Given the description of an element on the screen output the (x, y) to click on. 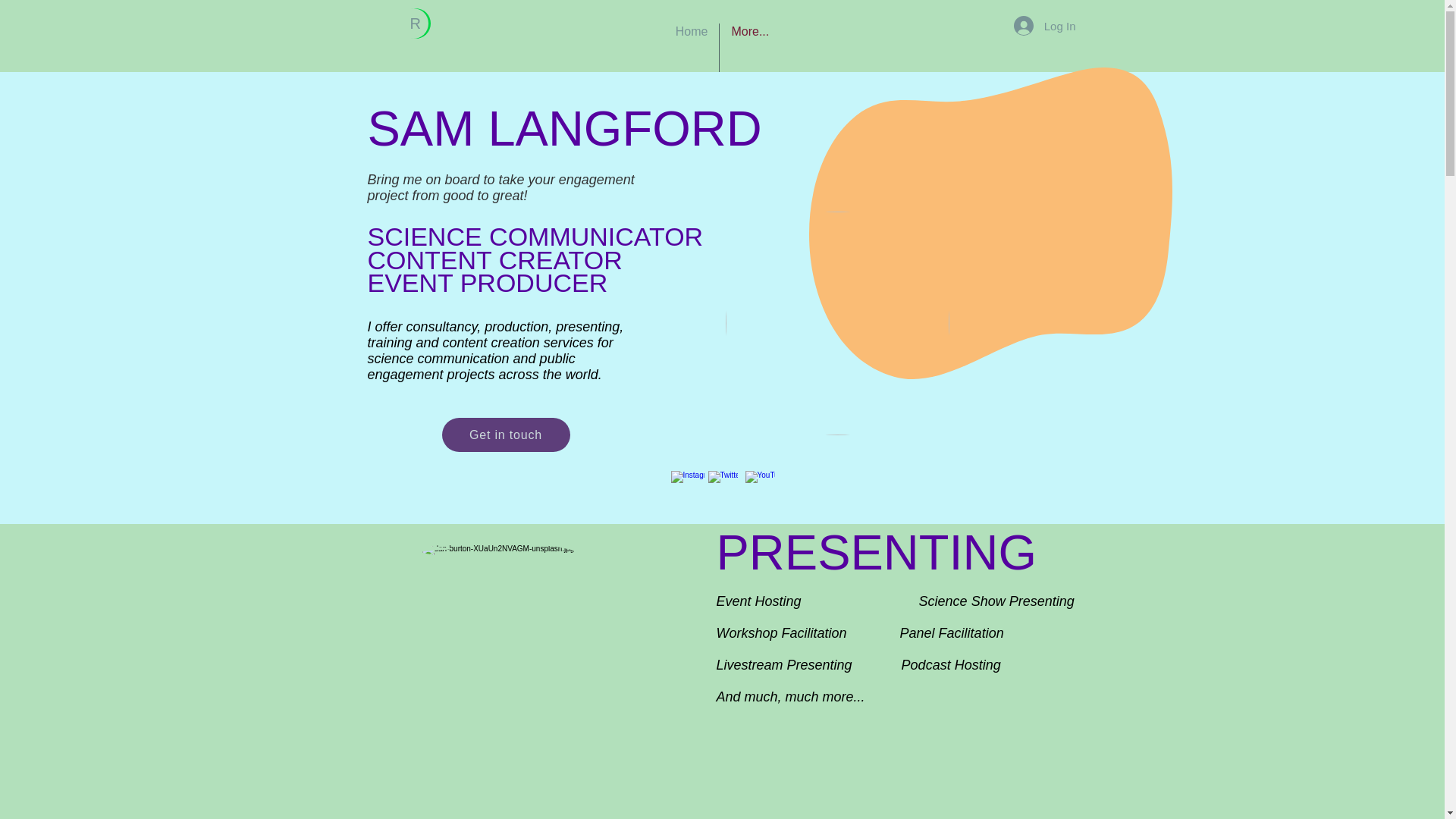
Log In (1044, 25)
Get in touch (505, 434)
Home (691, 47)
